Given the description of an element on the screen output the (x, y) to click on. 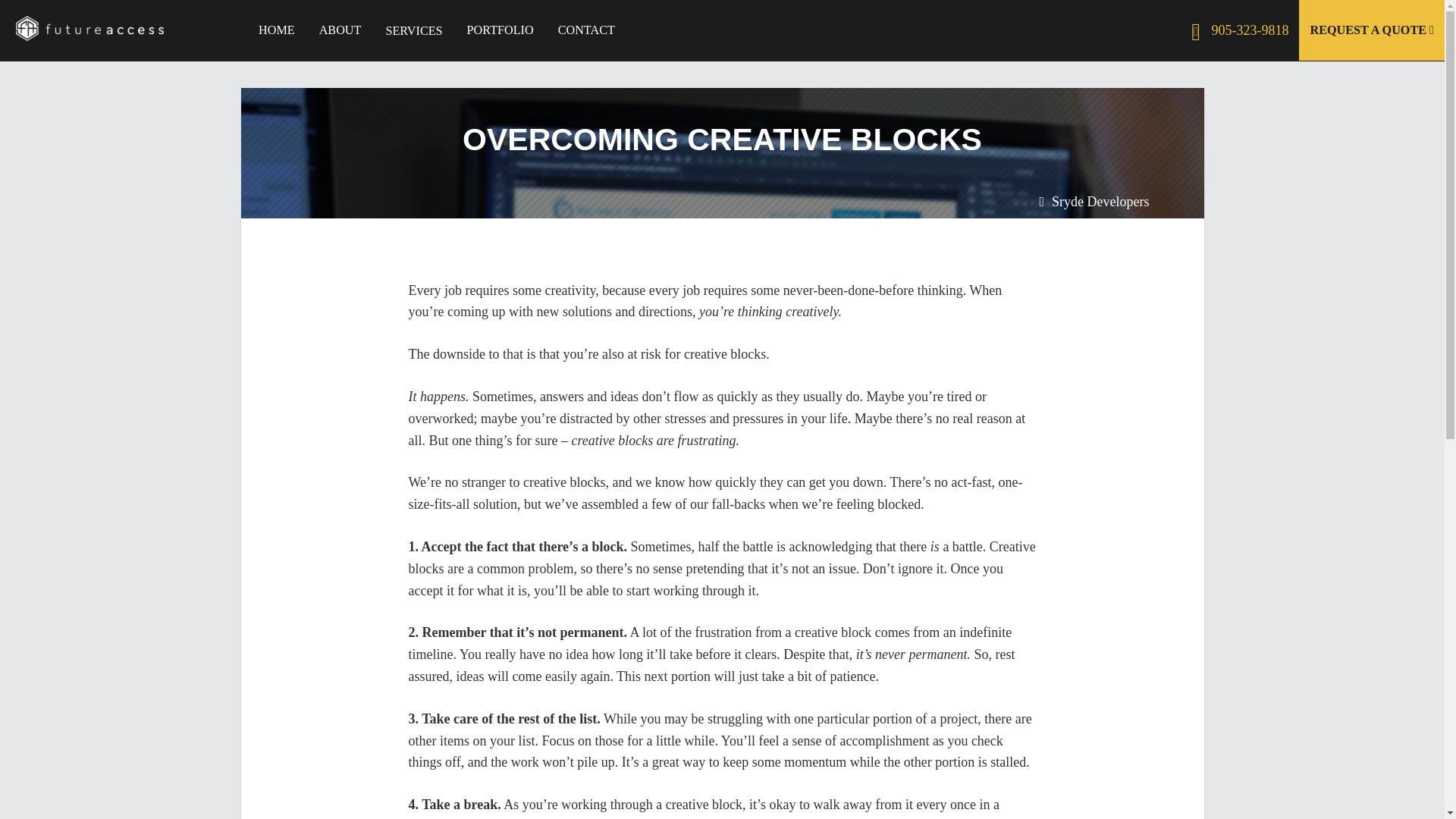
905-323-9818 (1236, 30)
Future Access (104, 27)
Posts by Sryde Developers (1099, 201)
SERVICES (413, 30)
Sryde Developers (1099, 201)
CONTACT (586, 30)
ABOUT (340, 30)
PORTFOLIO (500, 30)
